Given the description of an element on the screen output the (x, y) to click on. 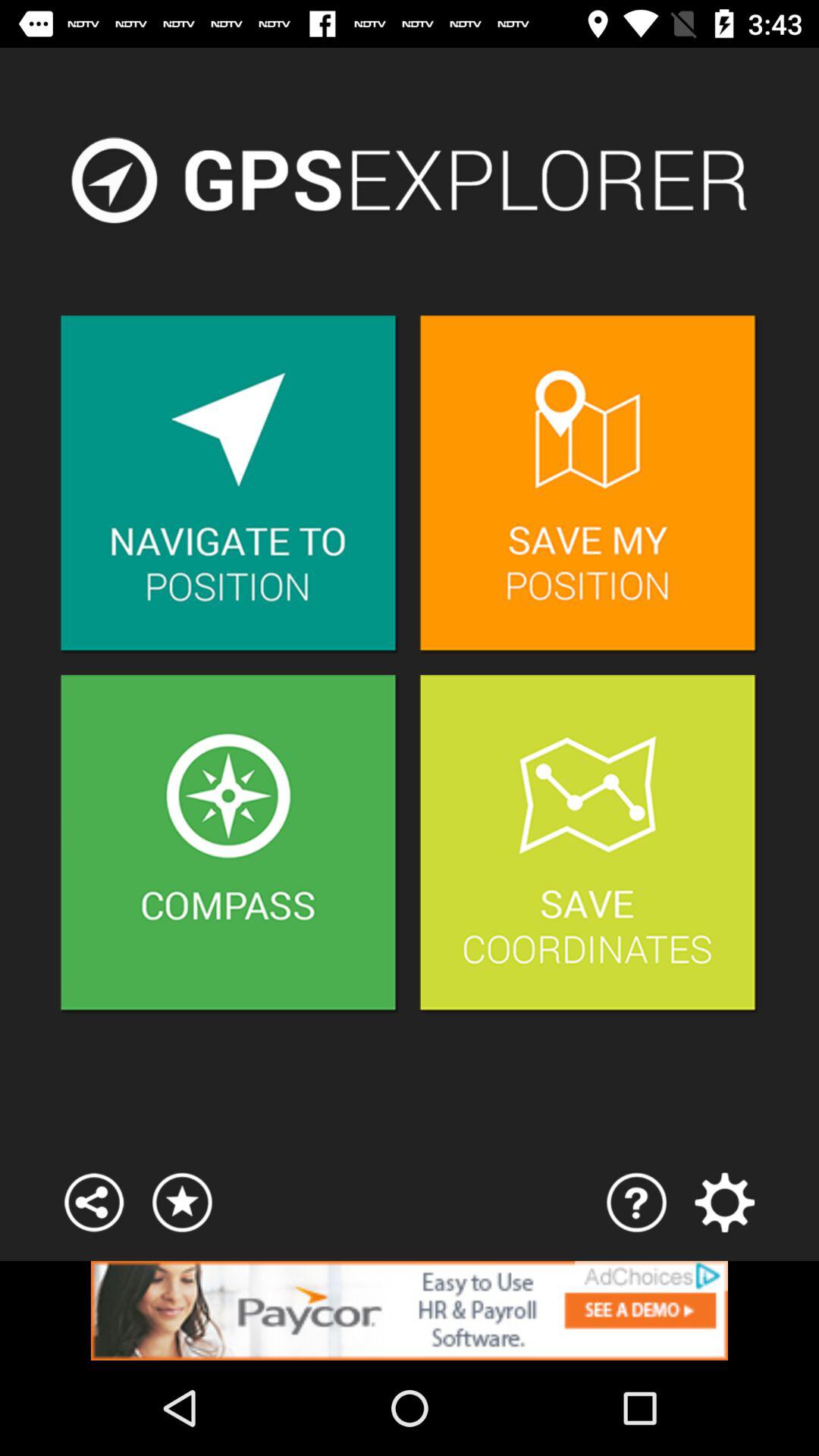
compass (229, 844)
